Given the description of an element on the screen output the (x, y) to click on. 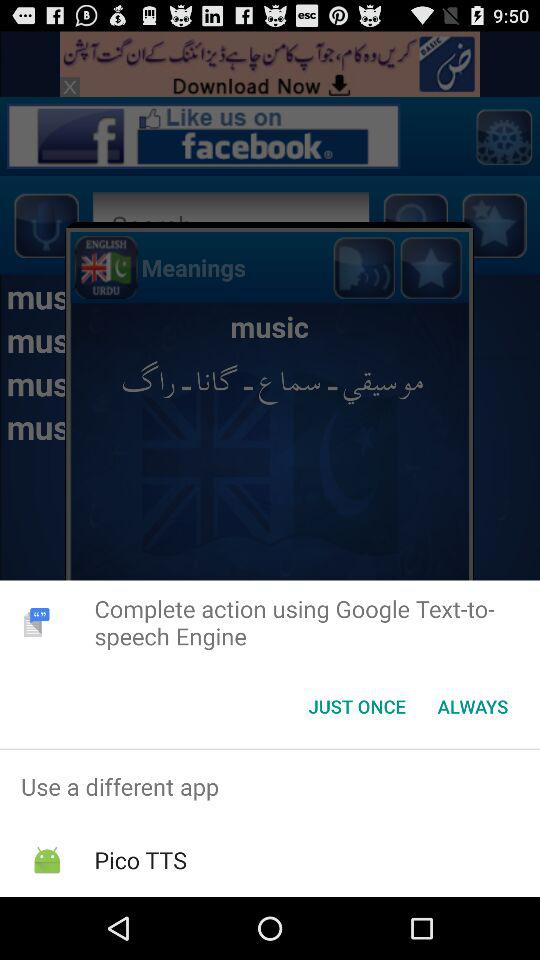
open app above the pico tts icon (270, 786)
